Given the description of an element on the screen output the (x, y) to click on. 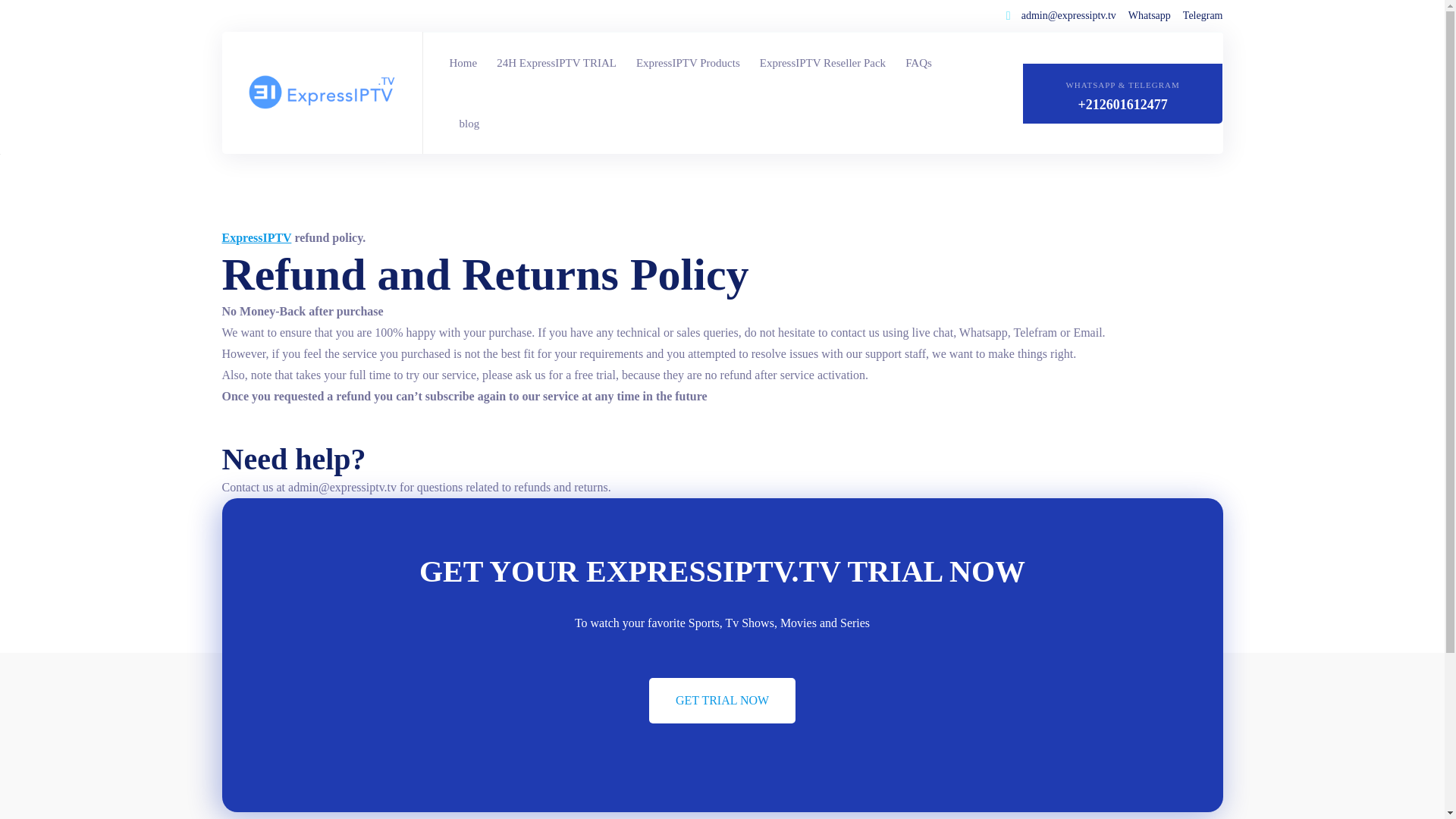
ExpressIPTV Reseller Pack (822, 62)
ExpressIPTV Products (687, 62)
Telegram (1202, 15)
ExpressIPTV (256, 237)
Whatsapp (1149, 15)
24H ExpressIPTV TRIAL (556, 62)
GET TRIAL NOW (721, 700)
